Given the description of an element on the screen output the (x, y) to click on. 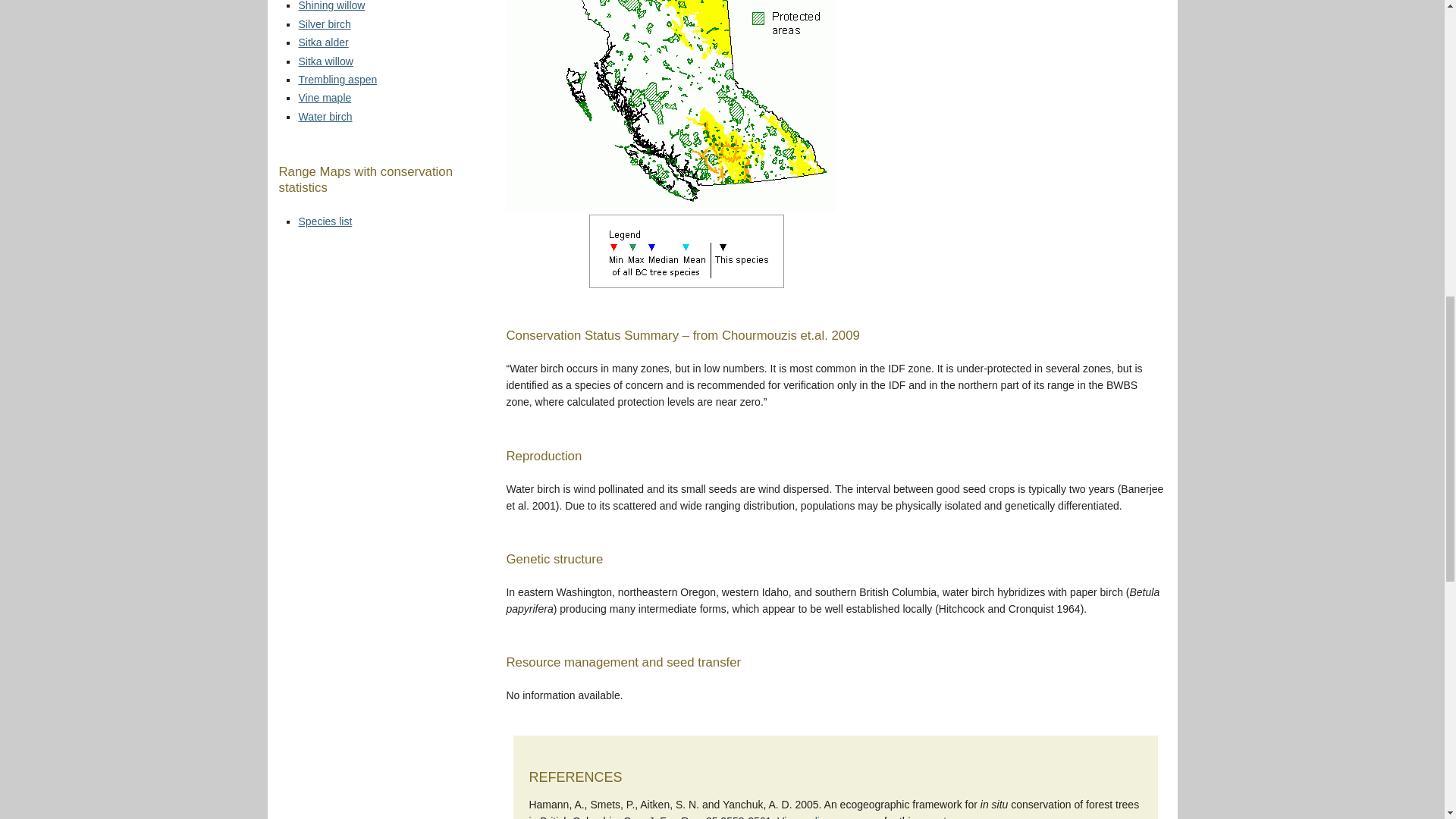
Shining willow (331, 5)
